Given the description of an element on the screen output the (x, y) to click on. 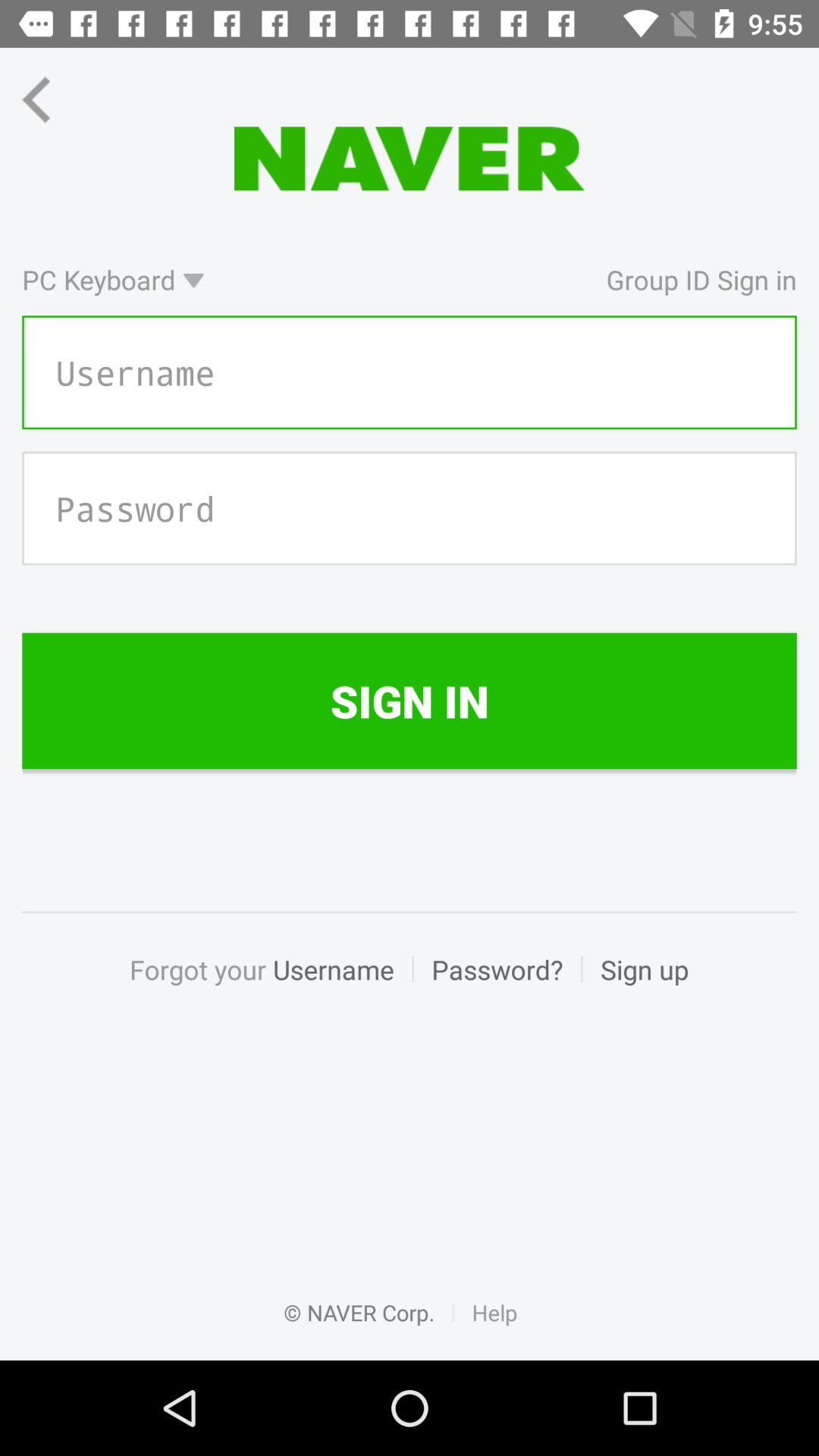
swipe to the forgot your username app (270, 985)
